Given the description of an element on the screen output the (x, y) to click on. 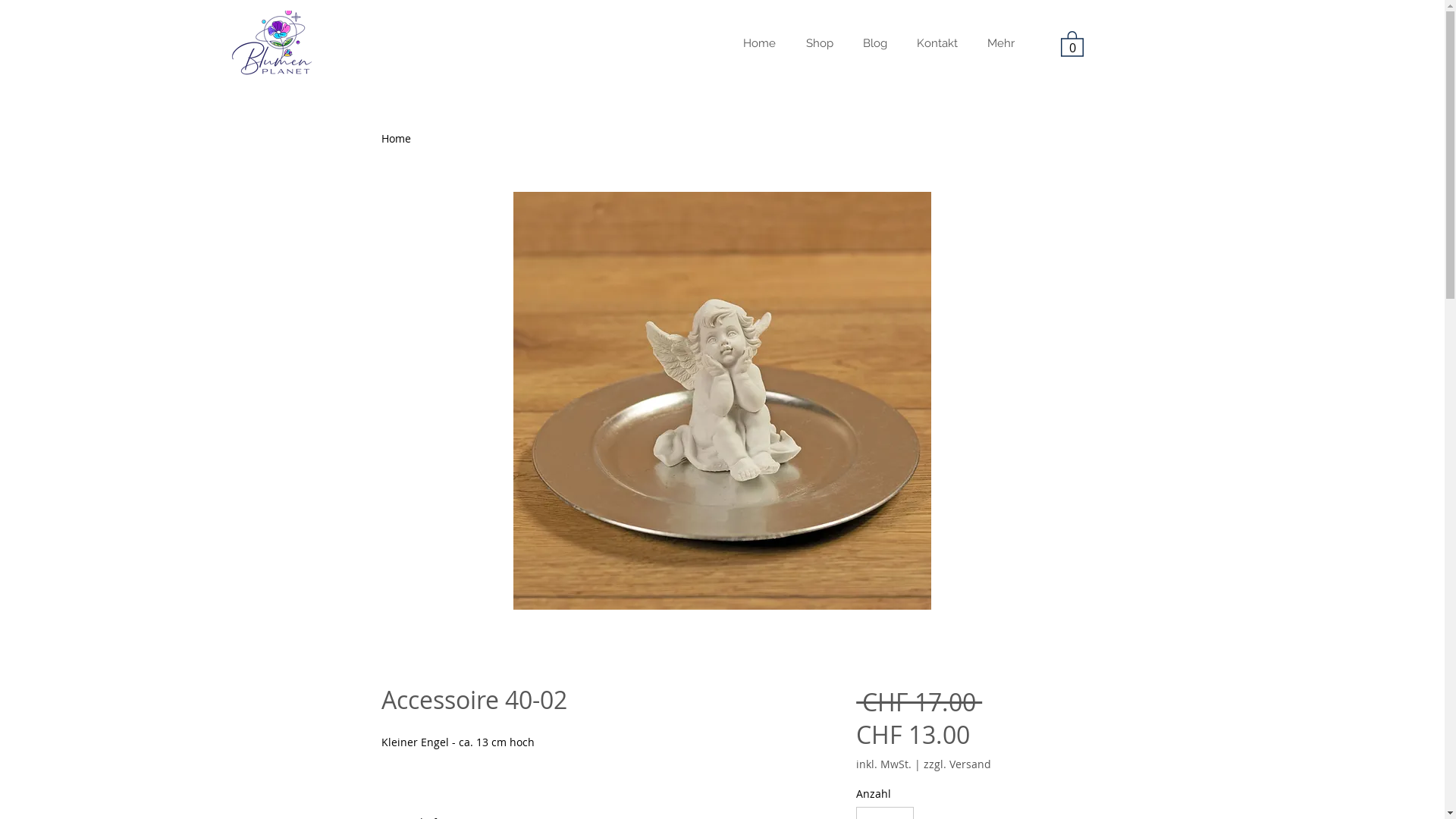
Home Element type: text (395, 138)
Blog Element type: text (874, 42)
Kontakt Element type: text (937, 42)
Shop Element type: text (818, 42)
Home Element type: text (759, 42)
zzgl. Versand Element type: text (957, 763)
0 Element type: text (1071, 42)
